Given the description of an element on the screen output the (x, y) to click on. 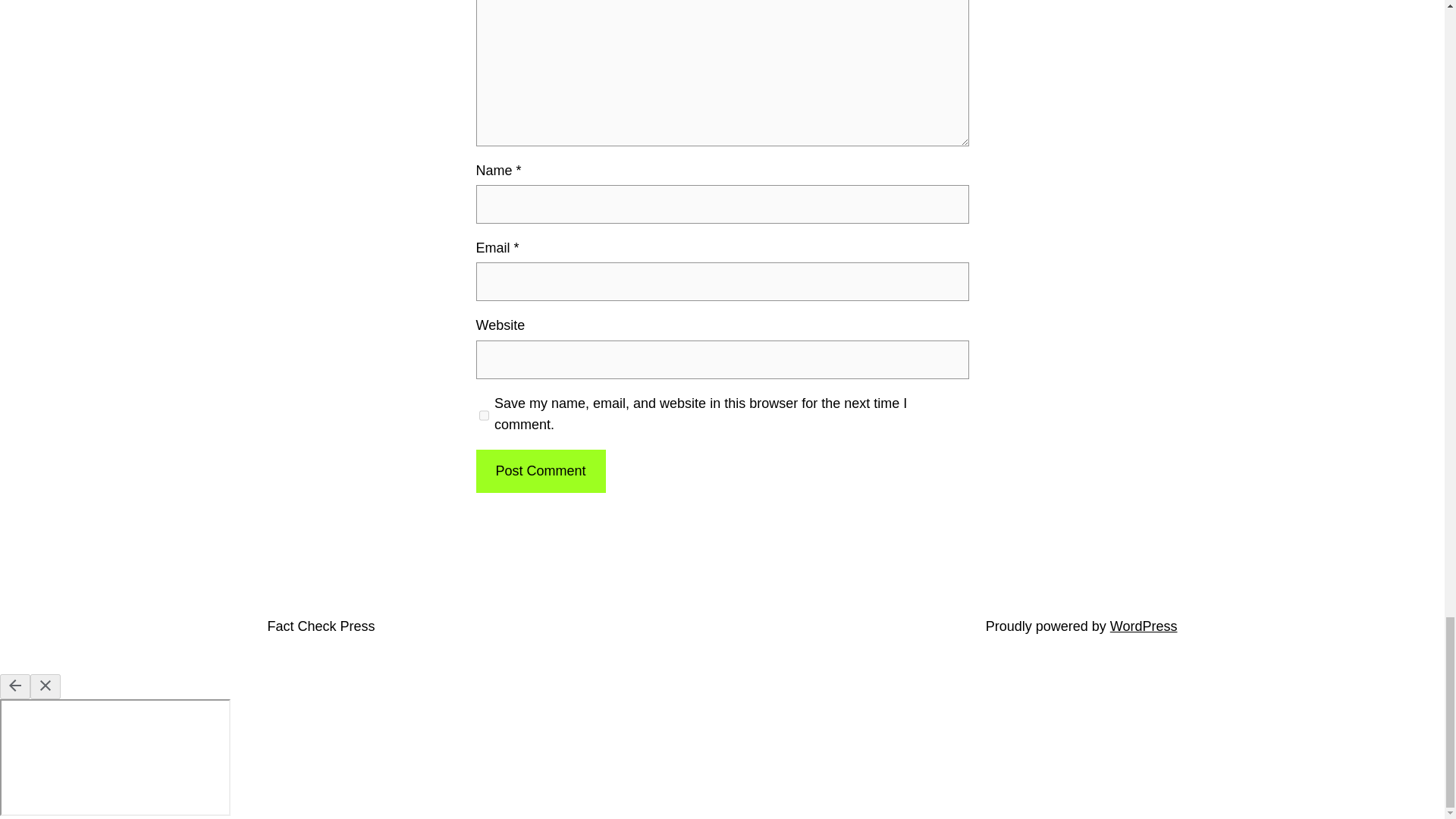
Fact Check Press (320, 626)
WordPress (1143, 626)
Post Comment (540, 471)
Post Comment (540, 471)
